Given the description of an element on the screen output the (x, y) to click on. 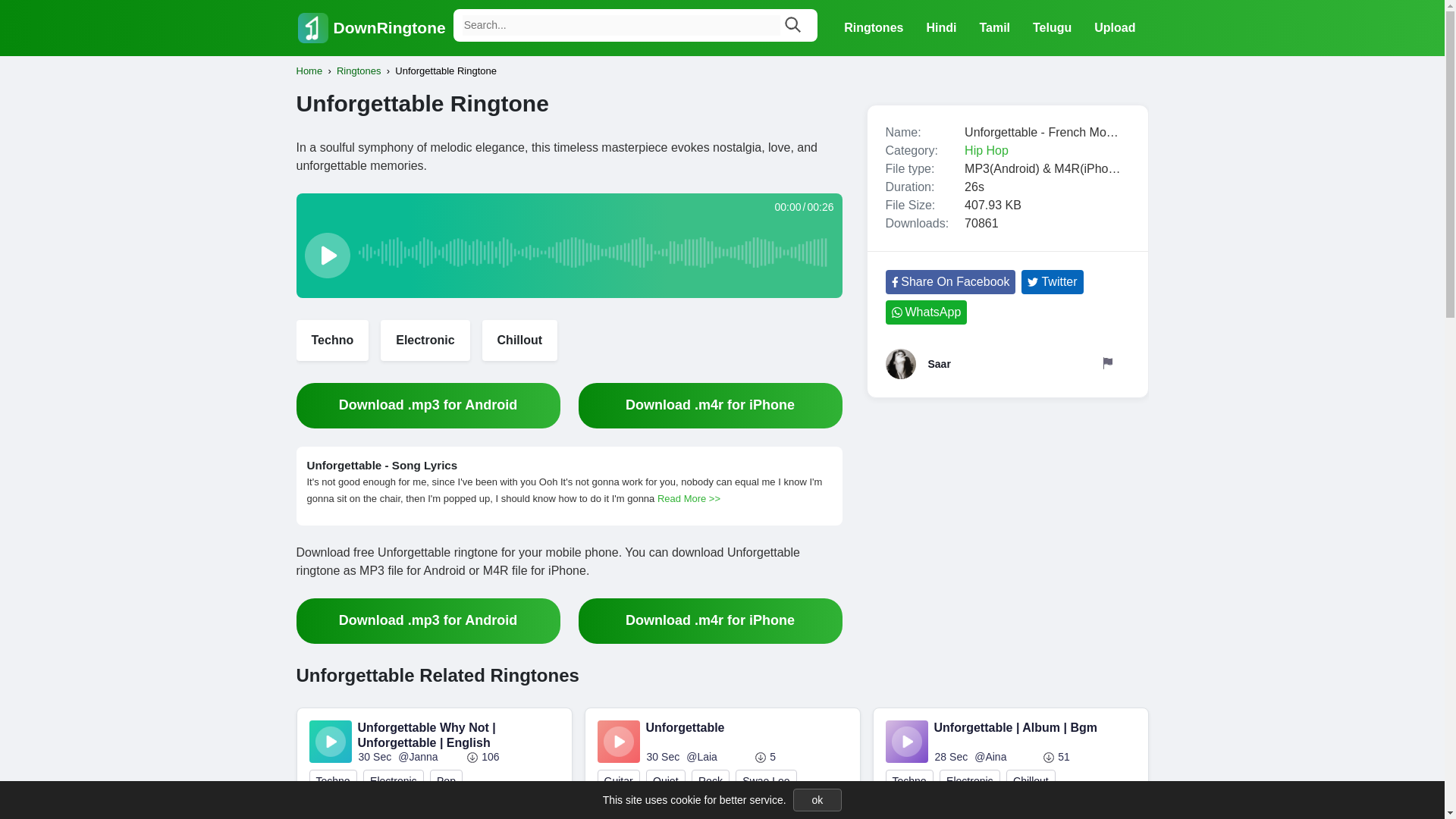
Unforgettable Why Not (369, 809)
Download .mp3 for Android (427, 619)
Download .mp3 for Android (427, 404)
Hip Hop (986, 150)
Download .m4r for iPhone (709, 404)
Unforgettable (474, 809)
Electronic (424, 340)
Ringtones (358, 70)
Pop (446, 780)
facebook (950, 282)
Tamil (995, 27)
Hindi (941, 27)
Twitter (1052, 282)
Telugu (1052, 27)
Upload (1115, 27)
